Given the description of an element on the screen output the (x, y) to click on. 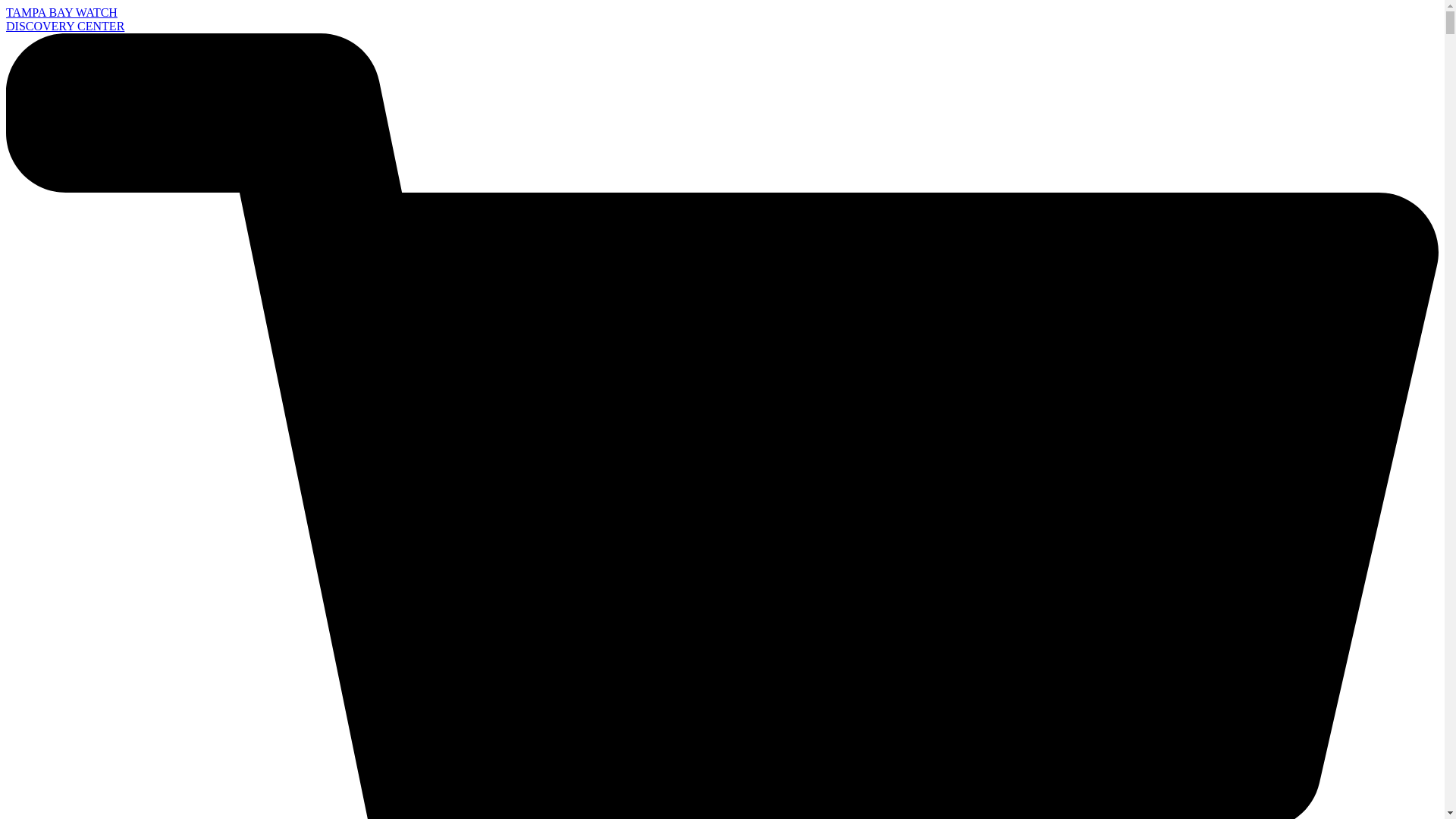
DISCOVERY CENTER (64, 25)
TAMPA BAY WATCH (61, 11)
